Given the description of an element on the screen output the (x, y) to click on. 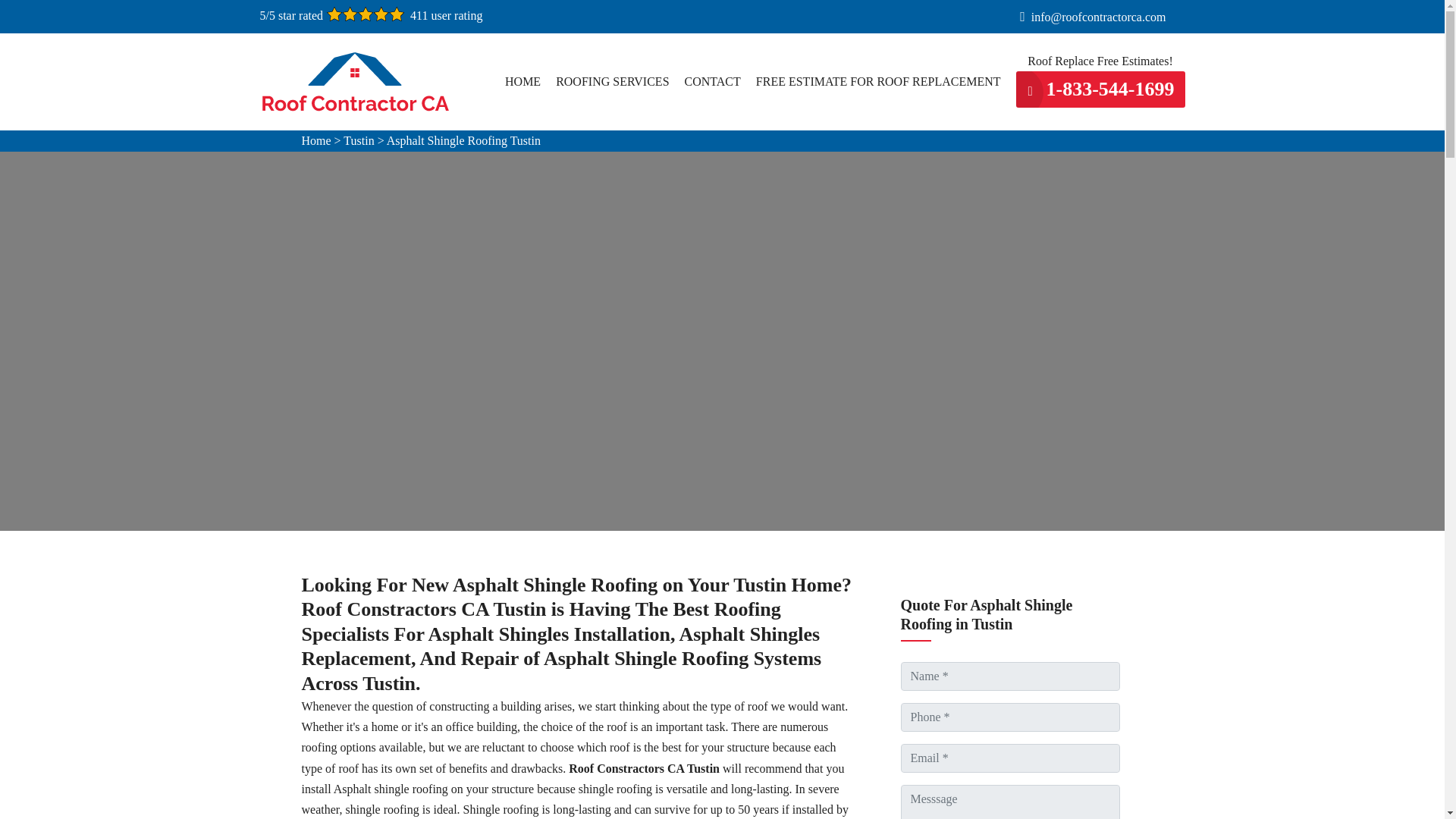
Asphalt Shingle Roofing Tustin (463, 140)
FREE ESTIMATE FOR ROOF REPLACEMENT (878, 81)
Home (316, 140)
1-833-544-1699 (1100, 89)
CONTACT (712, 81)
HOME (522, 81)
ROOFING SERVICES (612, 81)
Tustin (358, 140)
